Given the description of an element on the screen output the (x, y) to click on. 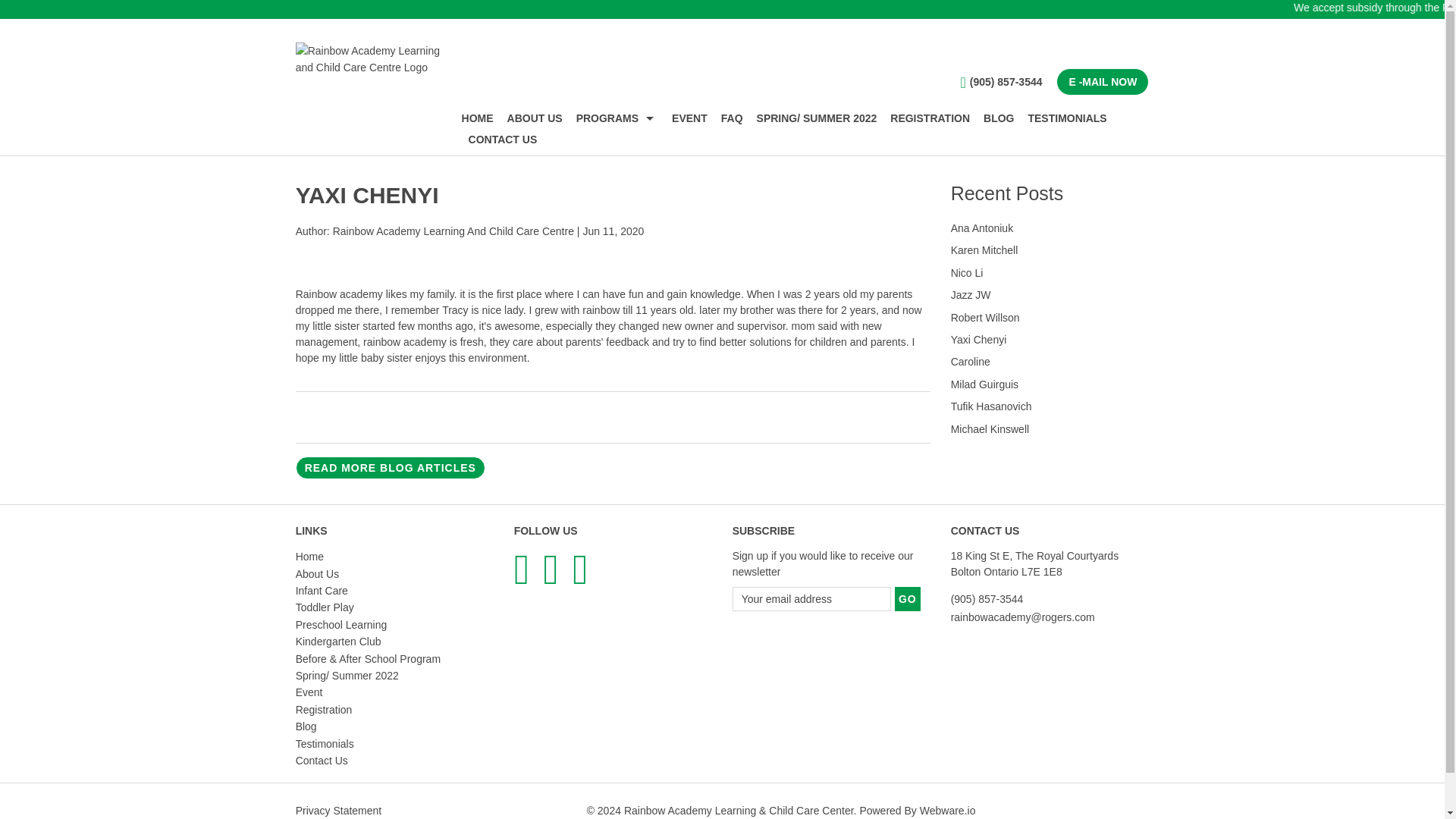
Caroline (970, 361)
PROGRAMS (617, 117)
REGISTRATION (929, 117)
EVENT (689, 117)
HOME (480, 117)
E -MAIL NOW (1102, 81)
Jazz JW (970, 295)
Your email address (811, 598)
Ana Antoniuk (981, 227)
Yaxi Chenyi (978, 339)
READ MORE BLOG ARTICLES (389, 467)
Karen Mitchell (983, 250)
GO (907, 598)
Robert Willson (985, 317)
Milad Guirguis (983, 384)
